Given the description of an element on the screen output the (x, y) to click on. 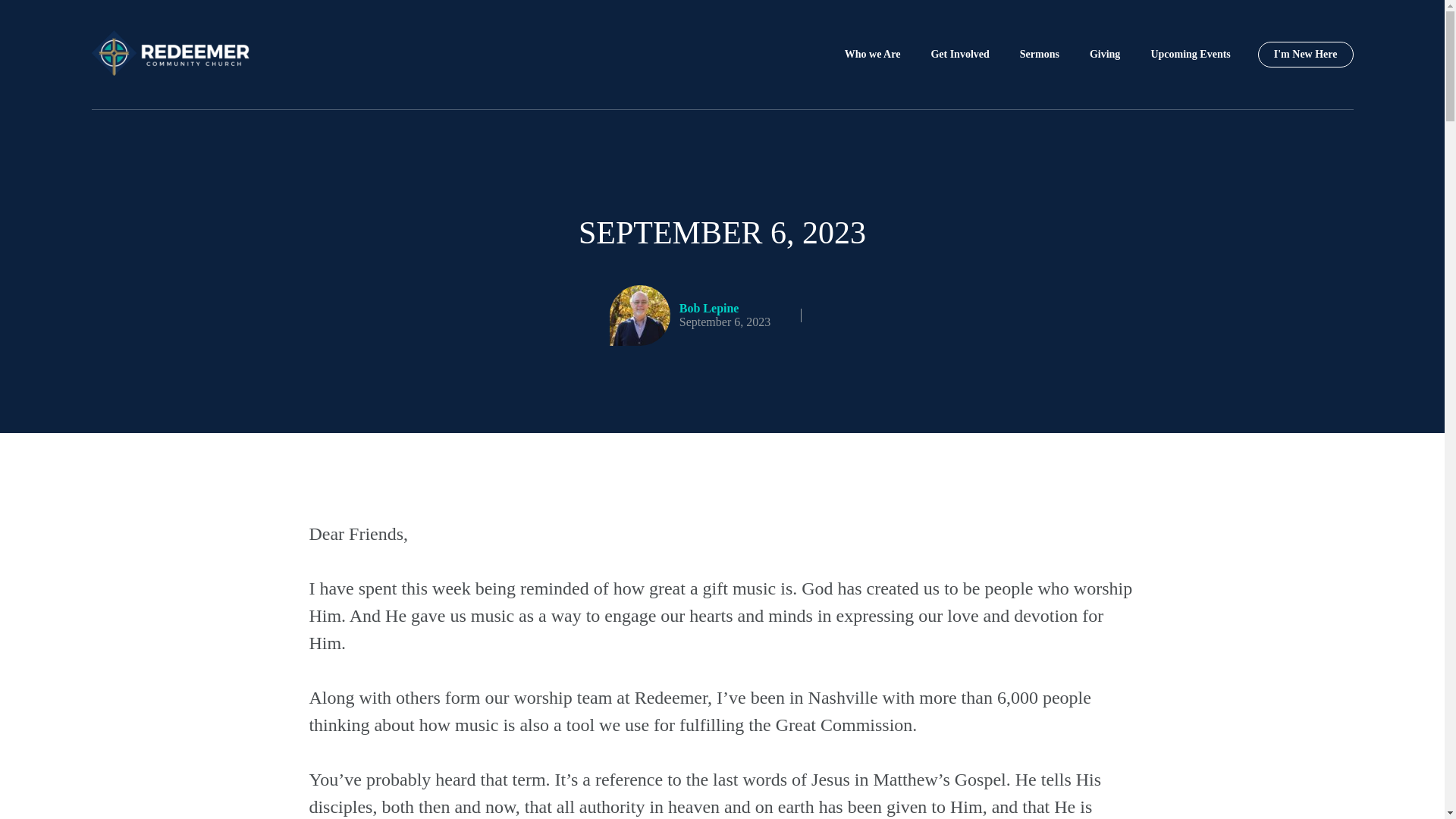
I'm New Here (1305, 54)
Upcoming Events (1190, 54)
